Given the description of an element on the screen output the (x, y) to click on. 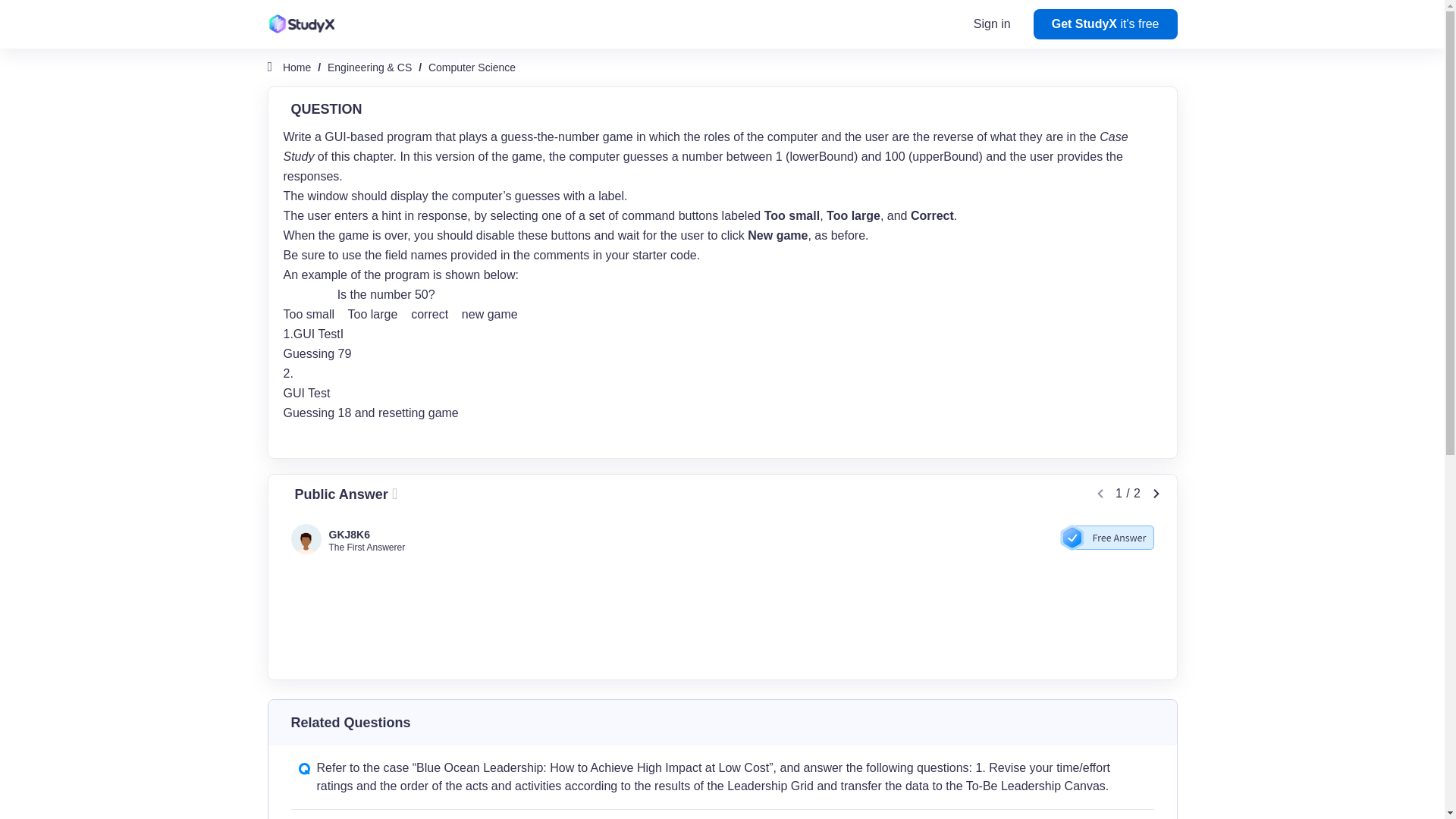
Computer Science (471, 67)
Home (296, 67)
